Given the description of an element on the screen output the (x, y) to click on. 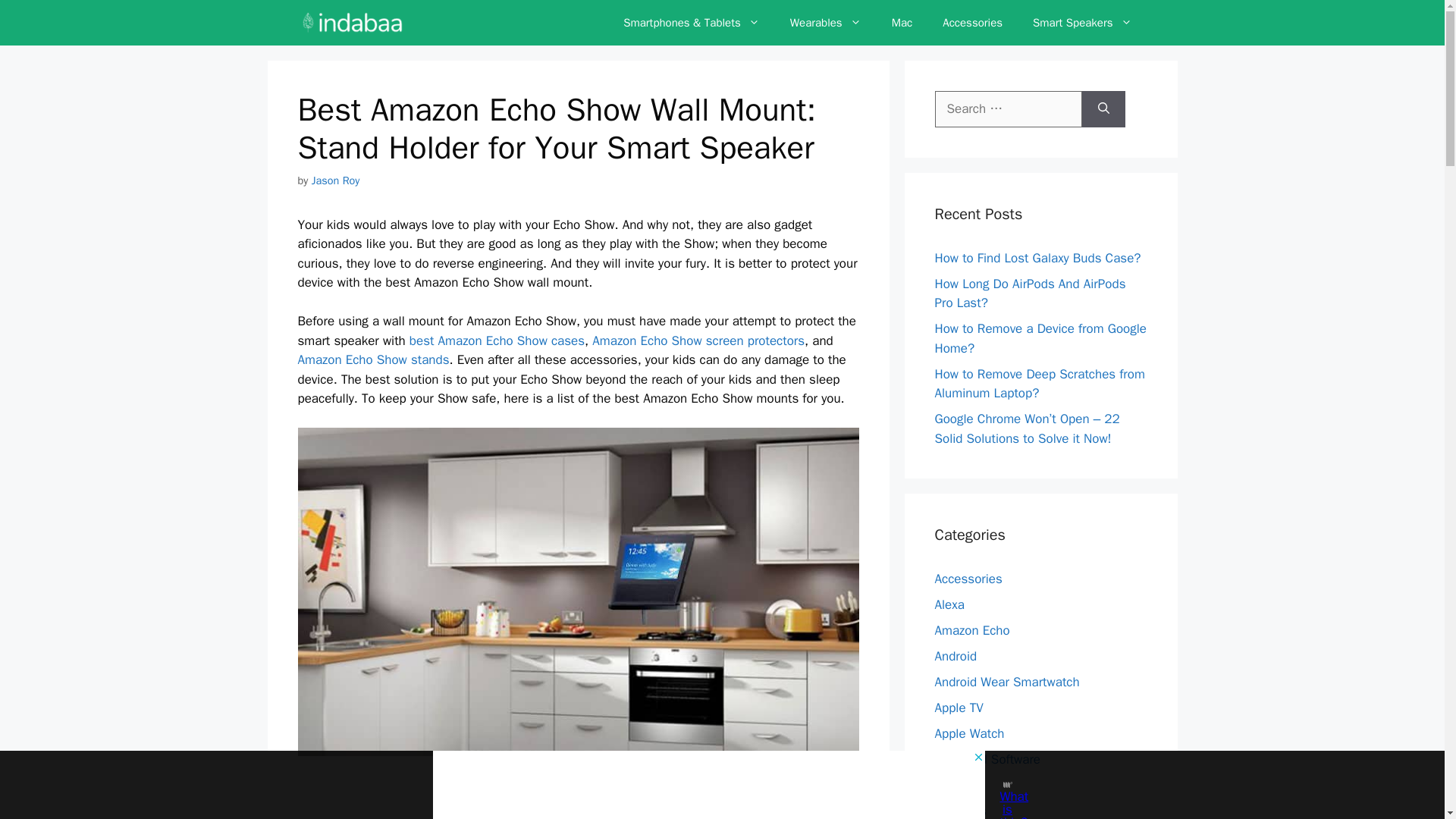
Accessories (972, 22)
Jason Roy (335, 180)
How to Remove Deep Scratches from Aluminum Laptop? (1039, 383)
INDABAA (352, 22)
View all posts by Jason Roy (335, 180)
How to Remove a Device from Google Home? (1039, 338)
Wearables (825, 22)
How Long Do AirPods And AirPods Pro Last?  (1029, 294)
Mac (902, 22)
Amazon Echo Show screen protectors (698, 340)
3rd party ad content (708, 785)
How to Find Lost Galaxy Buds Case? (1037, 258)
Smart Speakers (1082, 22)
best Amazon Echo Show cases (497, 340)
3rd party ad content (577, 794)
